Given the description of an element on the screen output the (x, y) to click on. 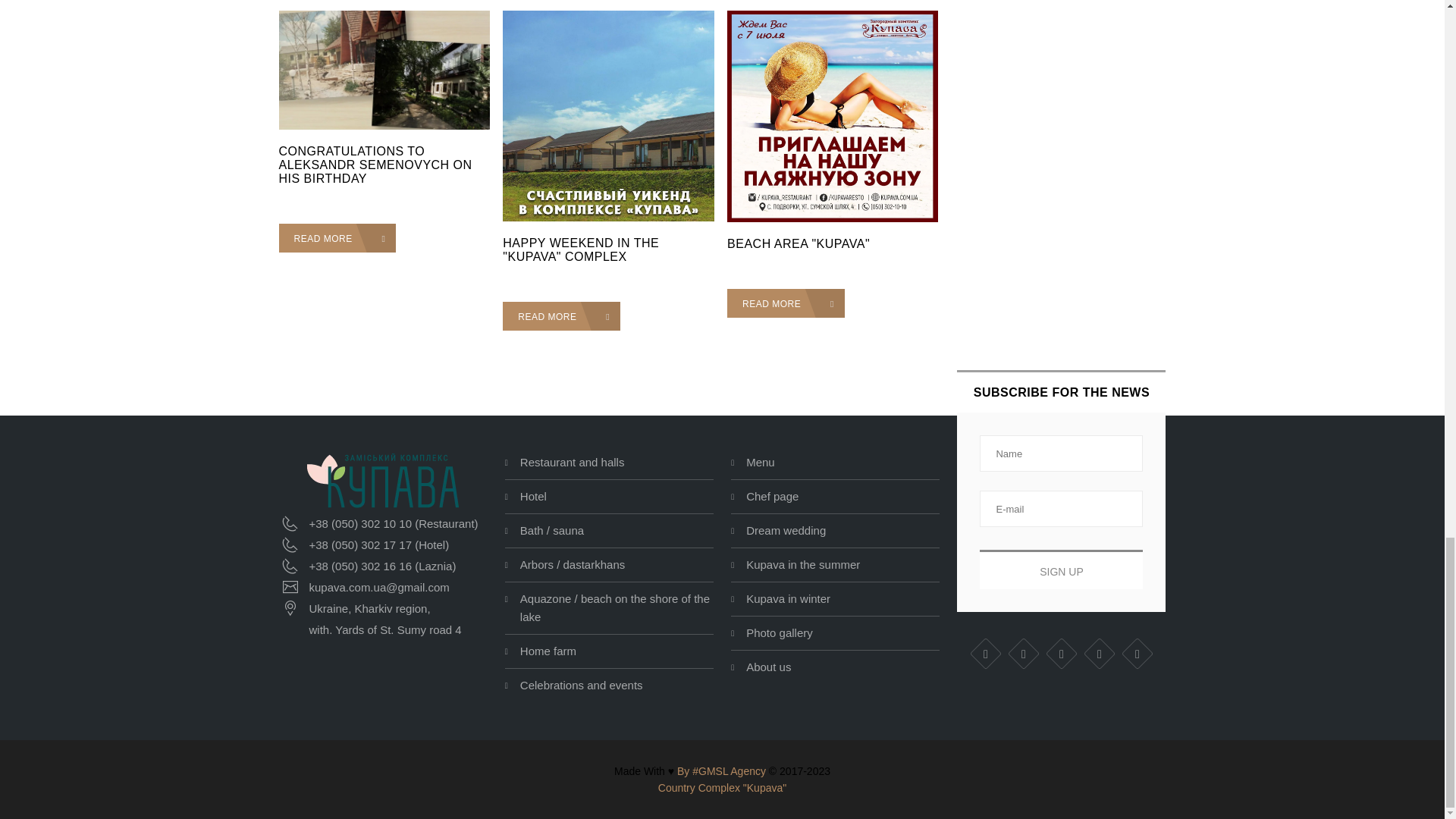
SIGN UP (1060, 568)
